Given the description of an element on the screen output the (x, y) to click on. 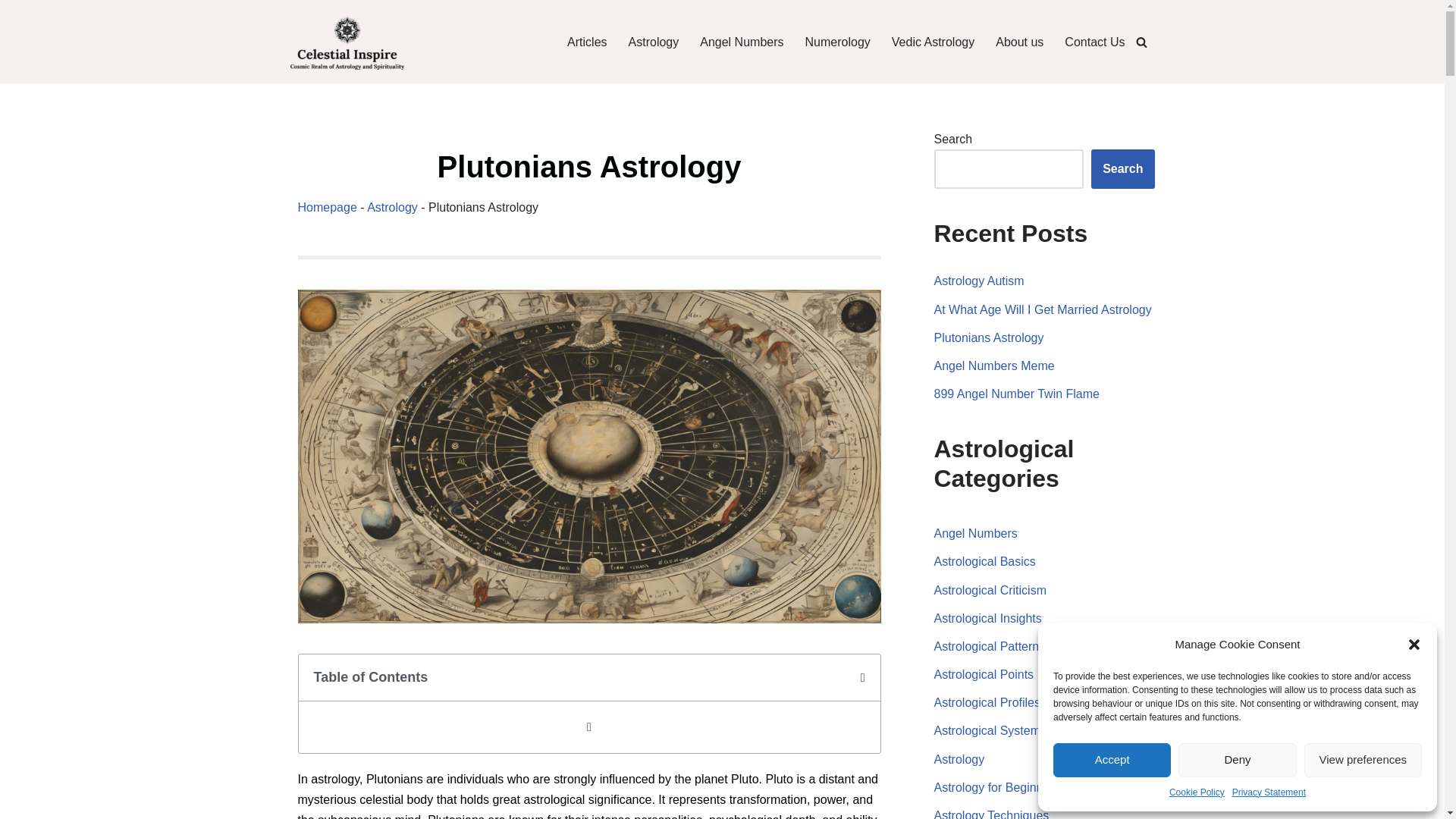
Accept (1111, 759)
View preferences (1363, 759)
Homepage (326, 206)
About us (1019, 41)
Numerology (837, 41)
Angel Numbers (741, 41)
Contact Us (1094, 41)
Cookie Policy (1196, 792)
Astrology (391, 206)
Skip to content (11, 31)
